Given the description of an element on the screen output the (x, y) to click on. 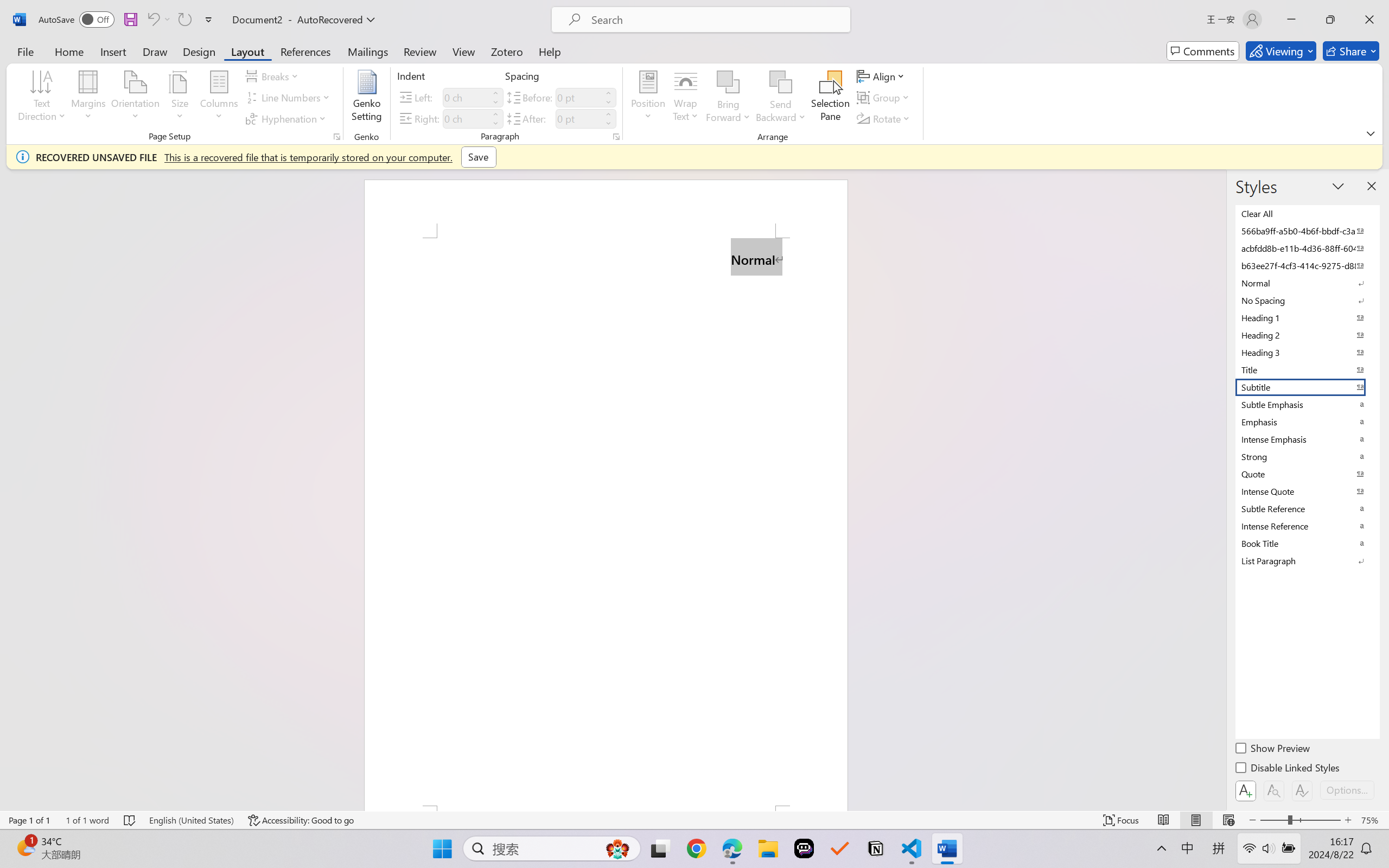
Bring Forward (728, 97)
Can't Undo (152, 19)
Intense Reference (1306, 525)
Page Number Page 1 of 1 (29, 819)
Genko Setting... (367, 97)
Quote (1306, 473)
